Given the description of an element on the screen output the (x, y) to click on. 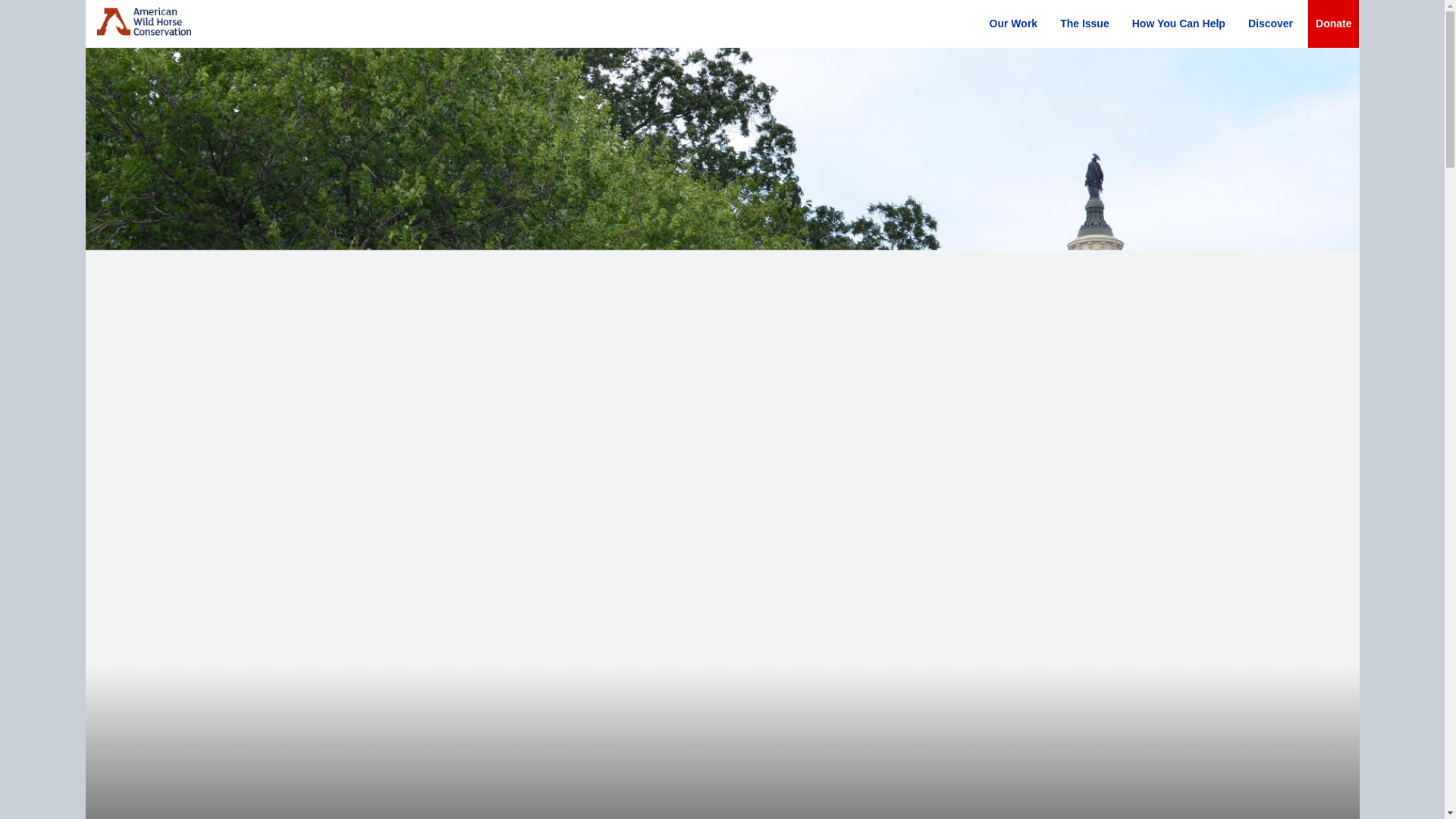
Find out what we're up to. (1270, 23)
The Issue (1084, 23)
How You Can Help (1178, 23)
Donate (1332, 23)
Our Work (1013, 23)
American Wild Horse Campaign (143, 23)
Discover (1270, 23)
The Issue (1084, 23)
